Given the description of an element on the screen output the (x, y) to click on. 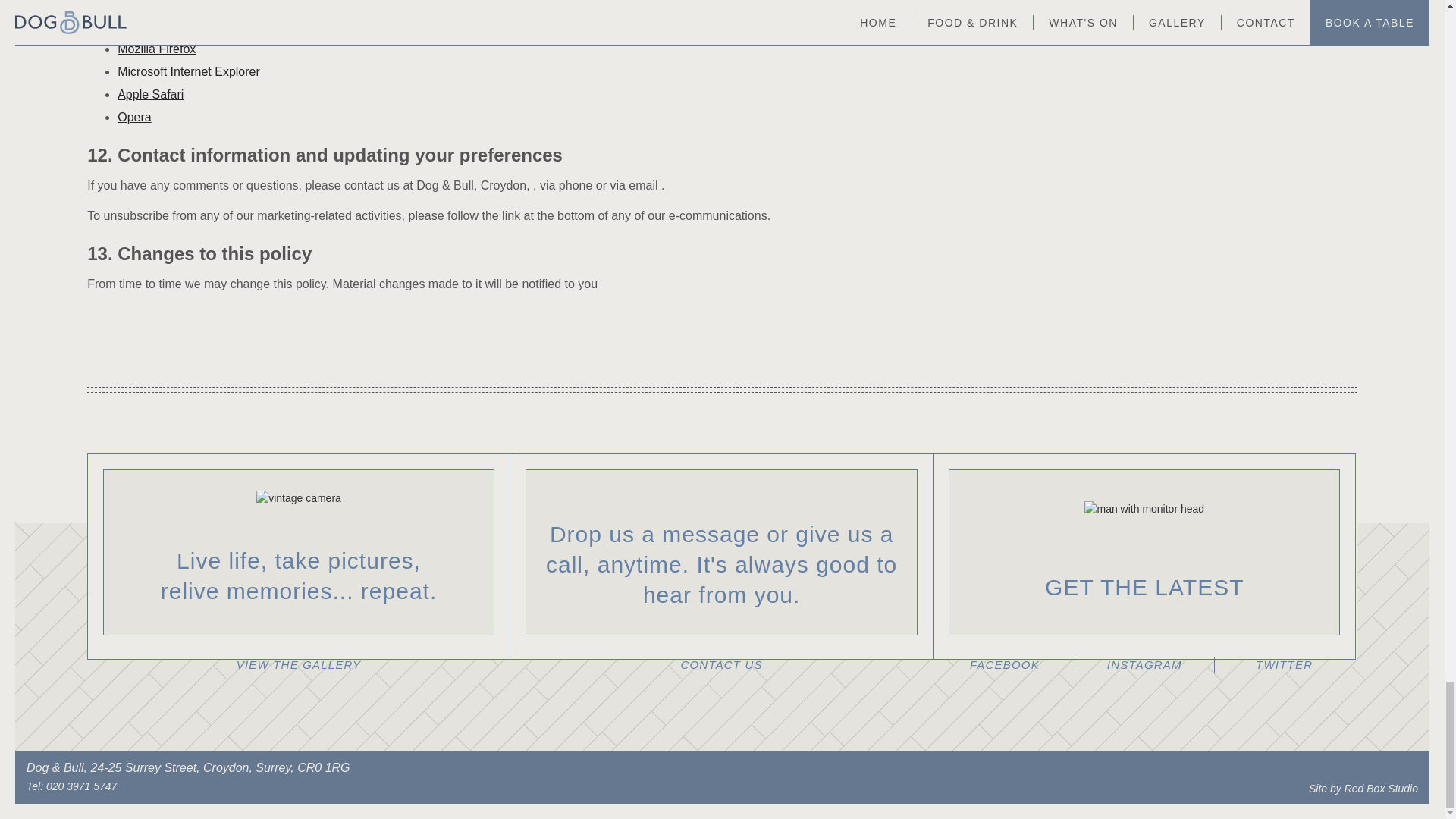
FACEBOOK (1004, 664)
CONTACT US (722, 664)
TWITTER (1284, 664)
Site by Red Box Studio (1363, 788)
INSTAGRAM (1144, 664)
Apple Safari (150, 93)
VIEW THE GALLERY (298, 664)
Google Chrome (160, 25)
Microsoft Internet Explorer (188, 71)
Mozilla Firefox (156, 48)
